Given the description of an element on the screen output the (x, y) to click on. 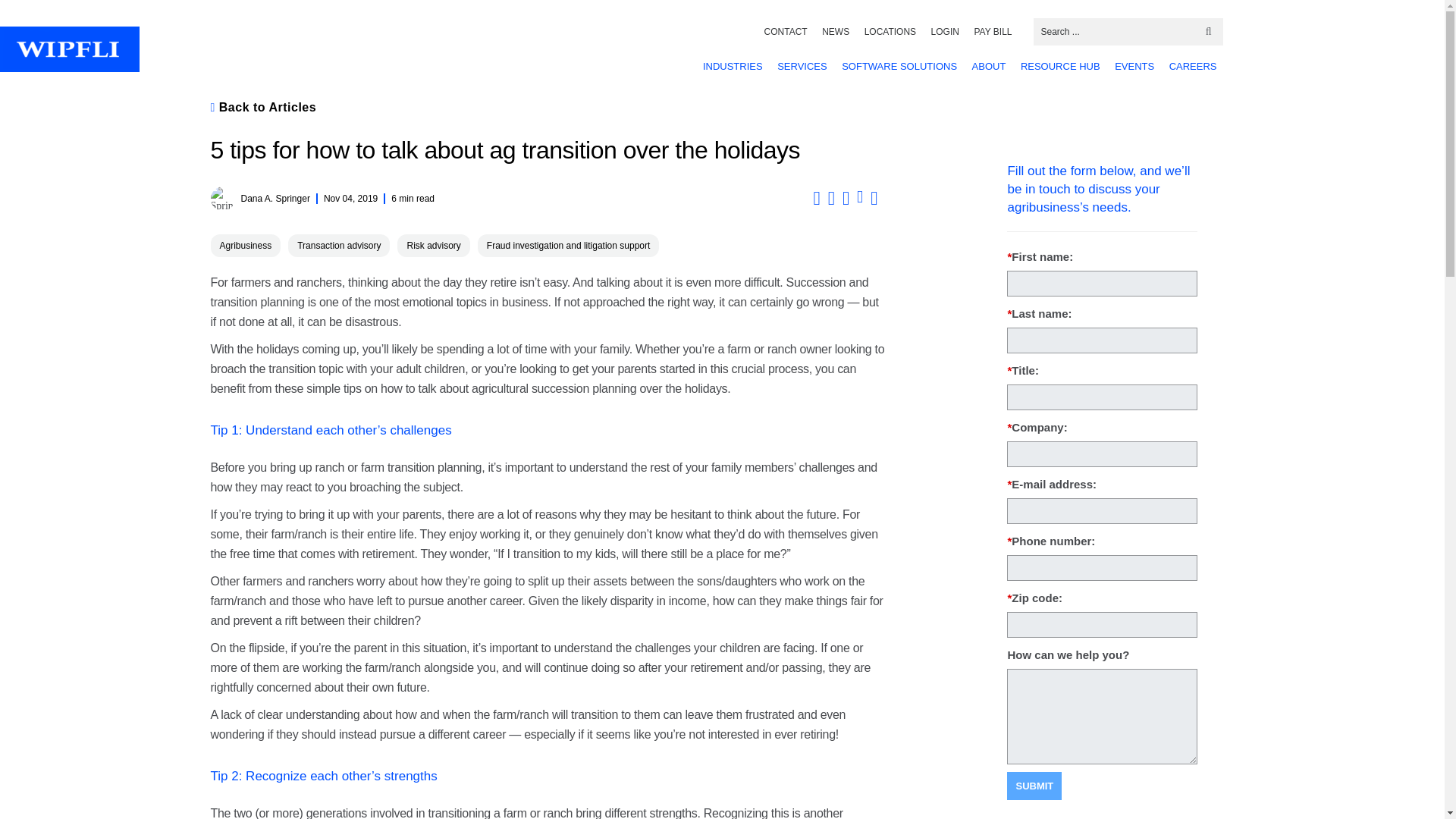
SERVICES (801, 66)
LOCATIONS (890, 32)
INDUSTRIES (732, 66)
NEWS (835, 32)
CONTACT (785, 32)
PAY BILL (992, 32)
Submit (1034, 786)
LOGIN (944, 32)
